Given the description of an element on the screen output the (x, y) to click on. 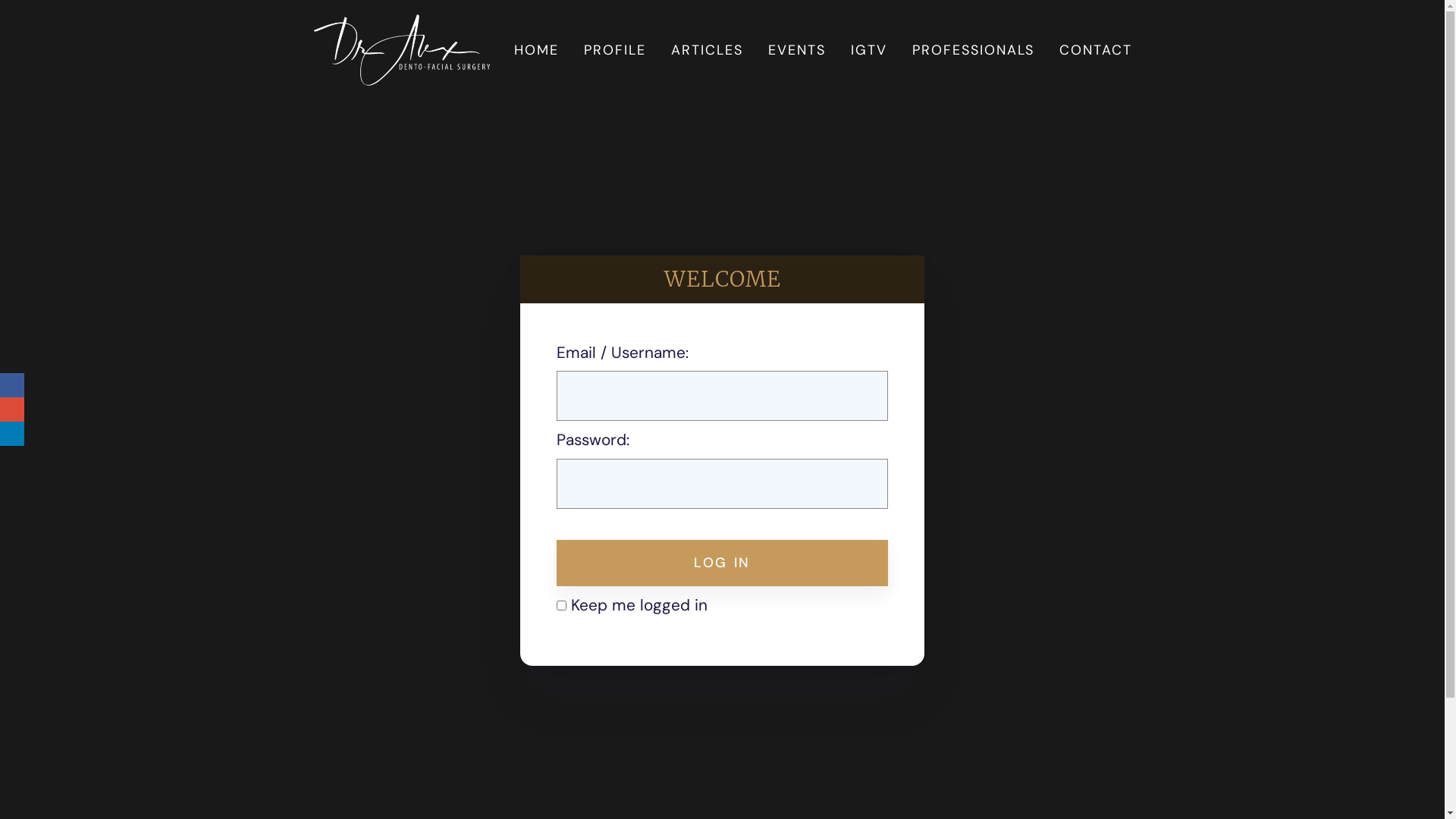
ARTICLES Element type: text (707, 50)
LOG IN Element type: text (722, 562)
PROFESSIONALS Element type: text (973, 50)
HOME Element type: text (536, 50)
PROFILE Element type: text (614, 50)
EVENTS Element type: text (796, 50)
IGTV Element type: text (868, 50)
CONTACT Element type: text (1095, 50)
